Given the description of an element on the screen output the (x, y) to click on. 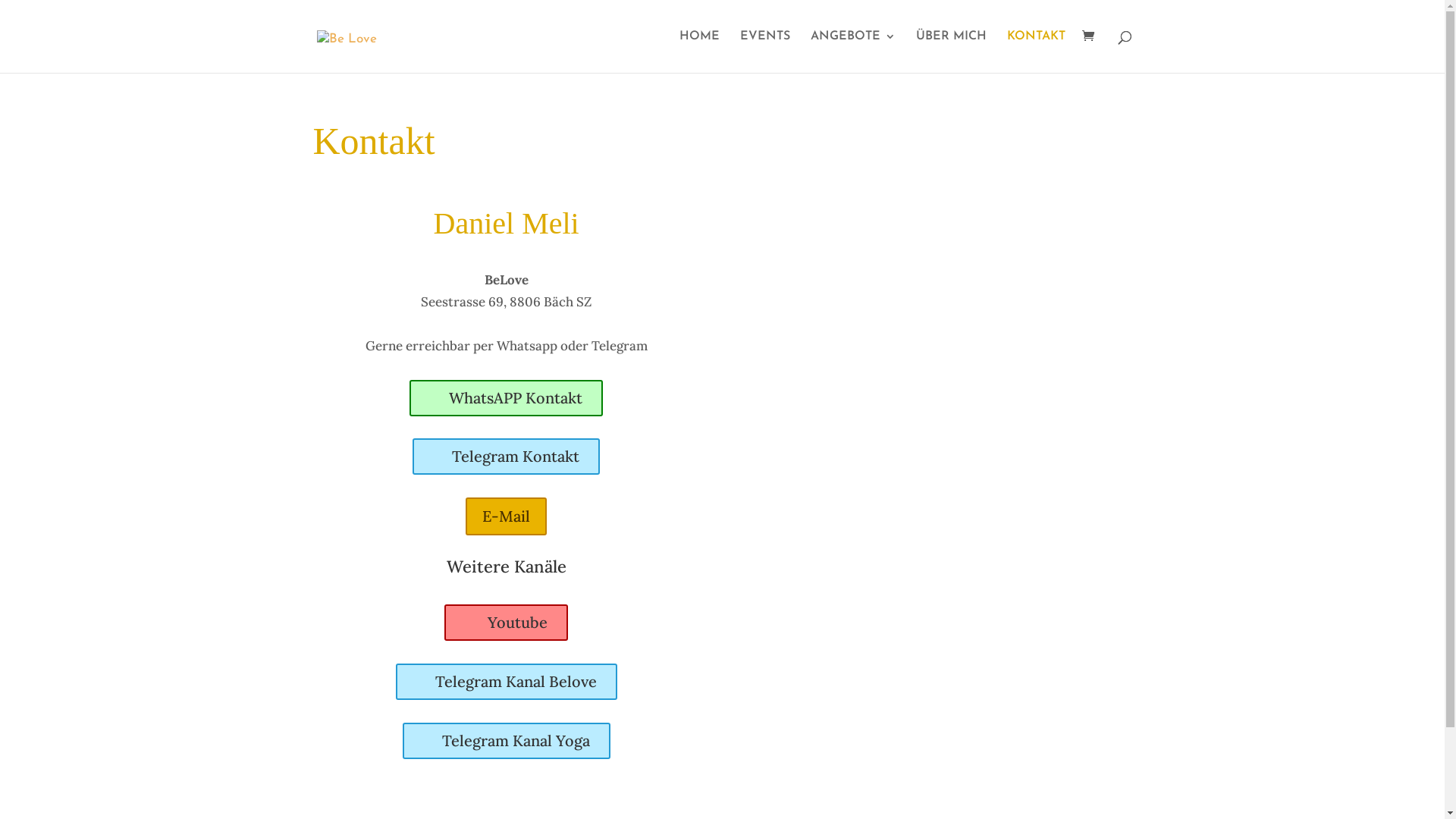
Telegram Kontakt Element type: text (505, 456)
ANGEBOTE Element type: text (851, 51)
Youtube Element type: text (505, 622)
Telegram Kanal Yoga Element type: text (506, 740)
Telegram Kanal Belove Element type: text (506, 681)
KONTAKT Element type: text (1036, 51)
HOME Element type: text (699, 51)
E-Mail Element type: text (505, 516)
WhatsAPP Kontakt Element type: text (505, 397)
EVENTS Element type: text (765, 51)
